Given the description of an element on the screen output the (x, y) to click on. 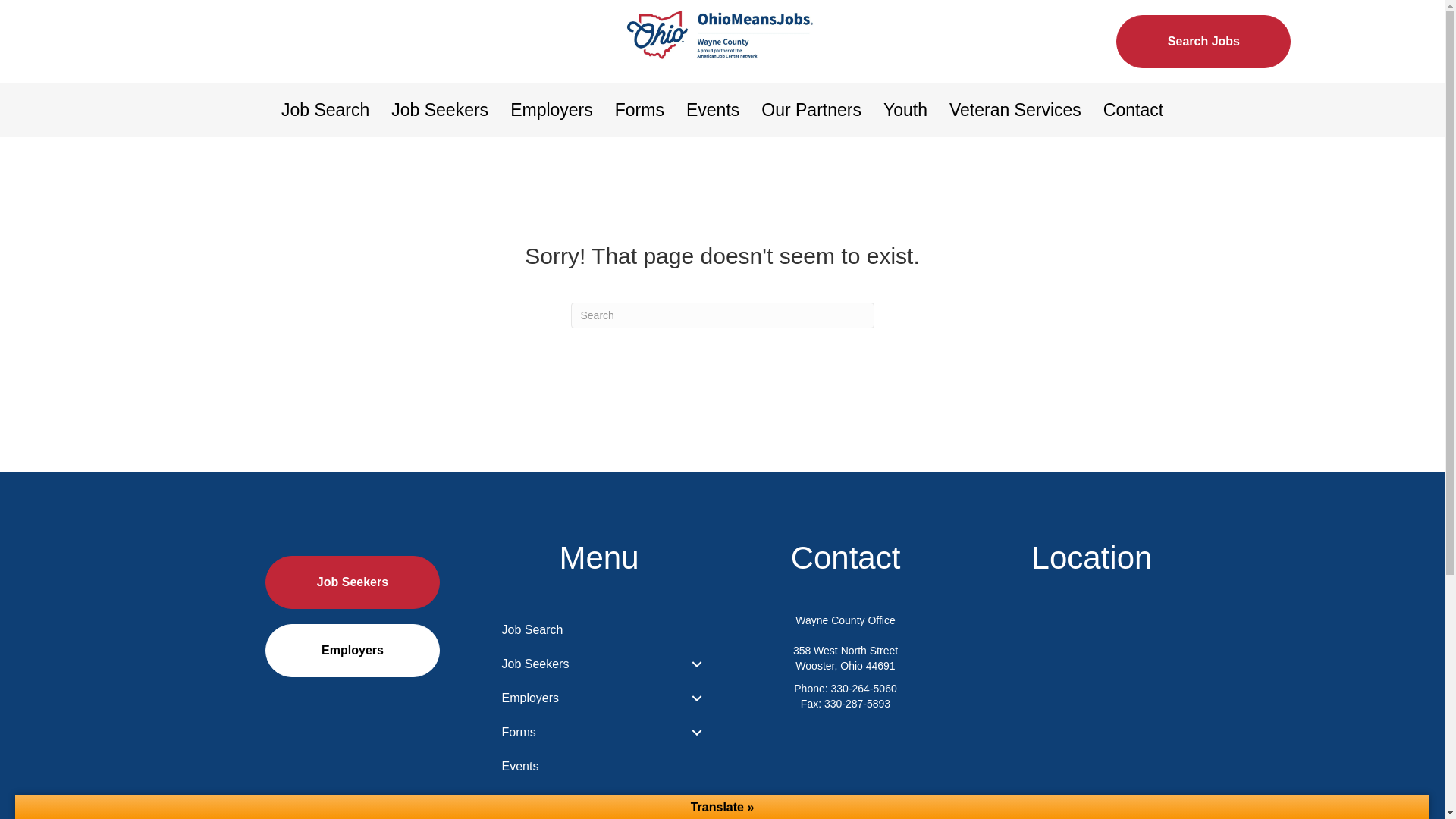
Events (712, 110)
Job Seekers (439, 110)
Job Search (325, 110)
Forms (639, 110)
Search Jobs (1203, 41)
Click Here (351, 650)
Employers (551, 110)
Type and press Enter to search. (721, 315)
omj-wc-logo (721, 34)
Click Here (1203, 41)
Click Here (351, 582)
Our Partners (811, 110)
